Given the description of an element on the screen output the (x, y) to click on. 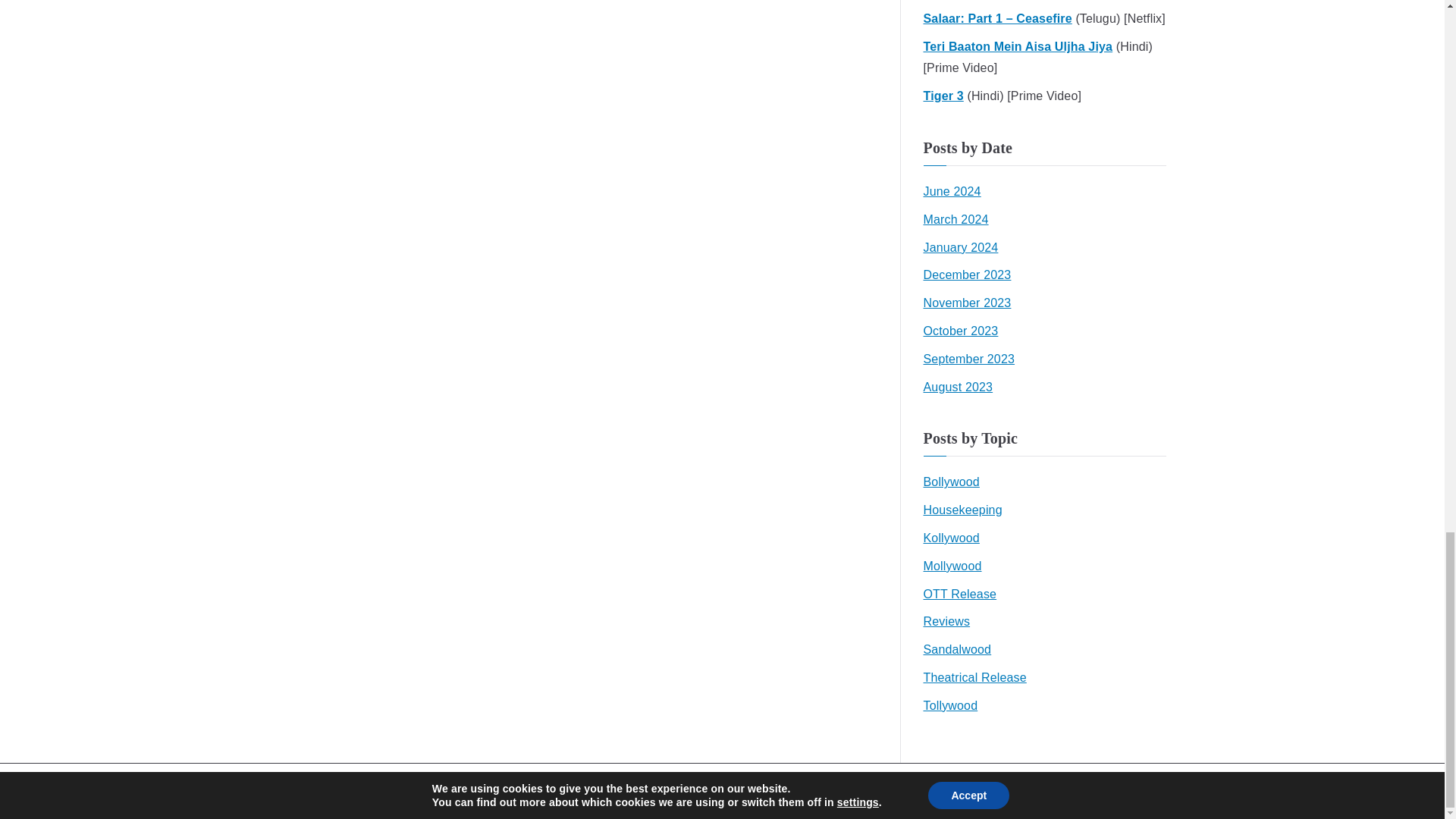
White Guy Watches Bollywood (678, 790)
Zakra (832, 790)
WordPress (897, 790)
